Given the description of an element on the screen output the (x, y) to click on. 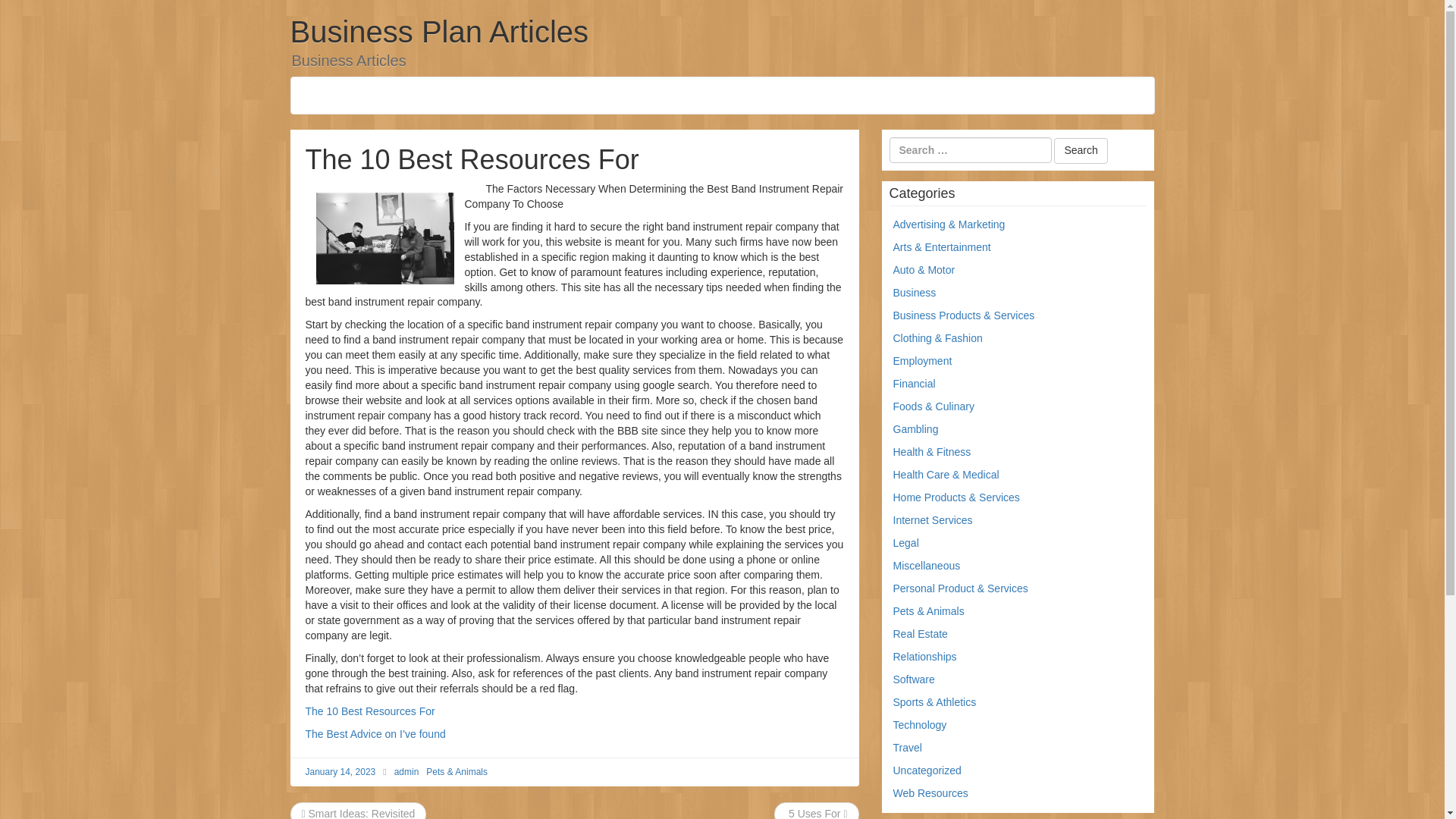
Search (1080, 150)
Search (1080, 150)
Web Resources (930, 793)
The 10 Best Resources For (368, 711)
Real Estate (920, 633)
Travel (907, 747)
Software (913, 679)
admin (406, 771)
Gambling (916, 428)
Internet Services (932, 520)
Employment (922, 360)
Search (1080, 150)
Business Plan Articles (438, 31)
Business (914, 292)
January 14, 2023 (339, 771)
